Given the description of an element on the screen output the (x, y) to click on. 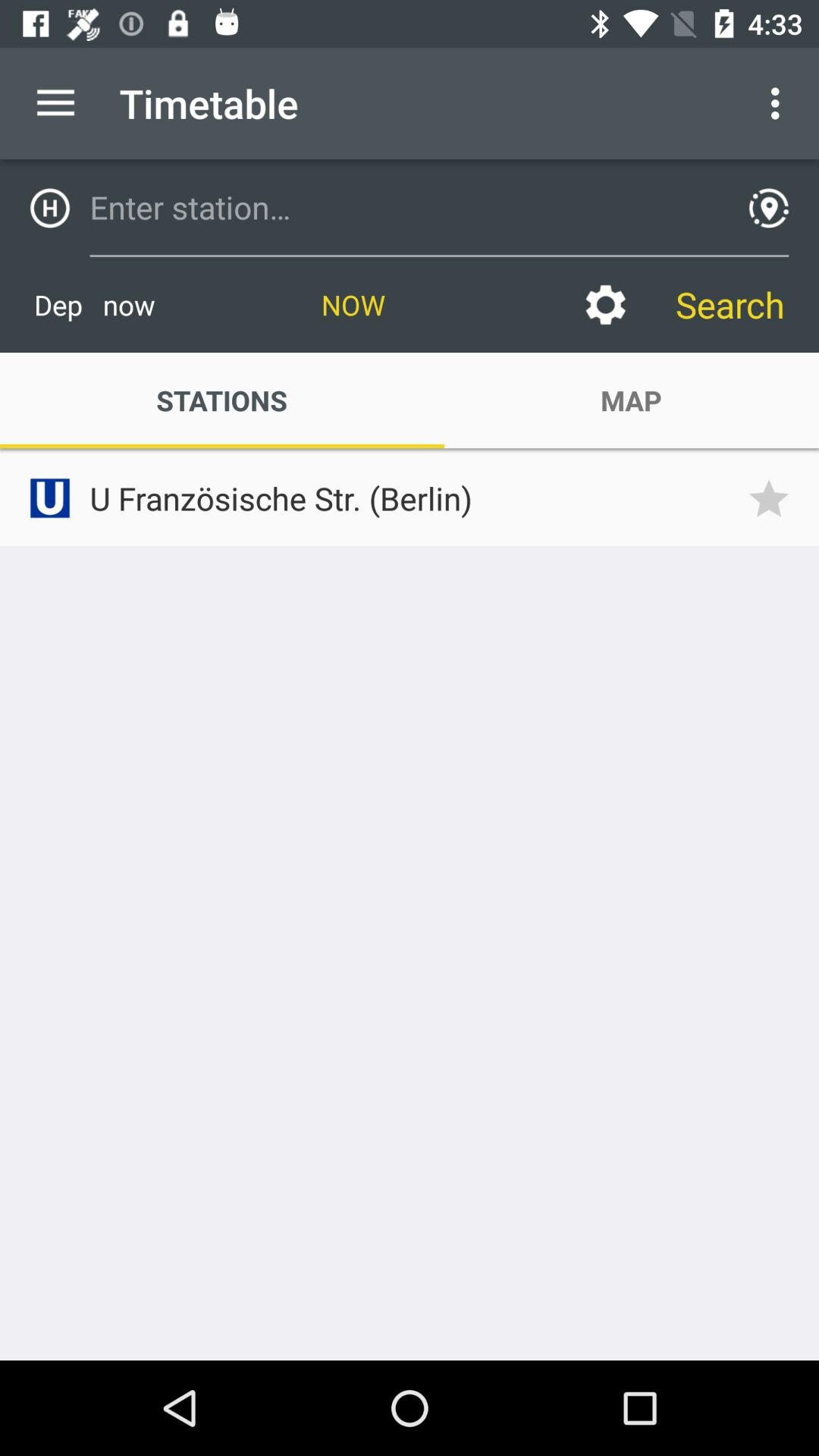
choose icon next to now item (94, 304)
